Given the description of an element on the screen output the (x, y) to click on. 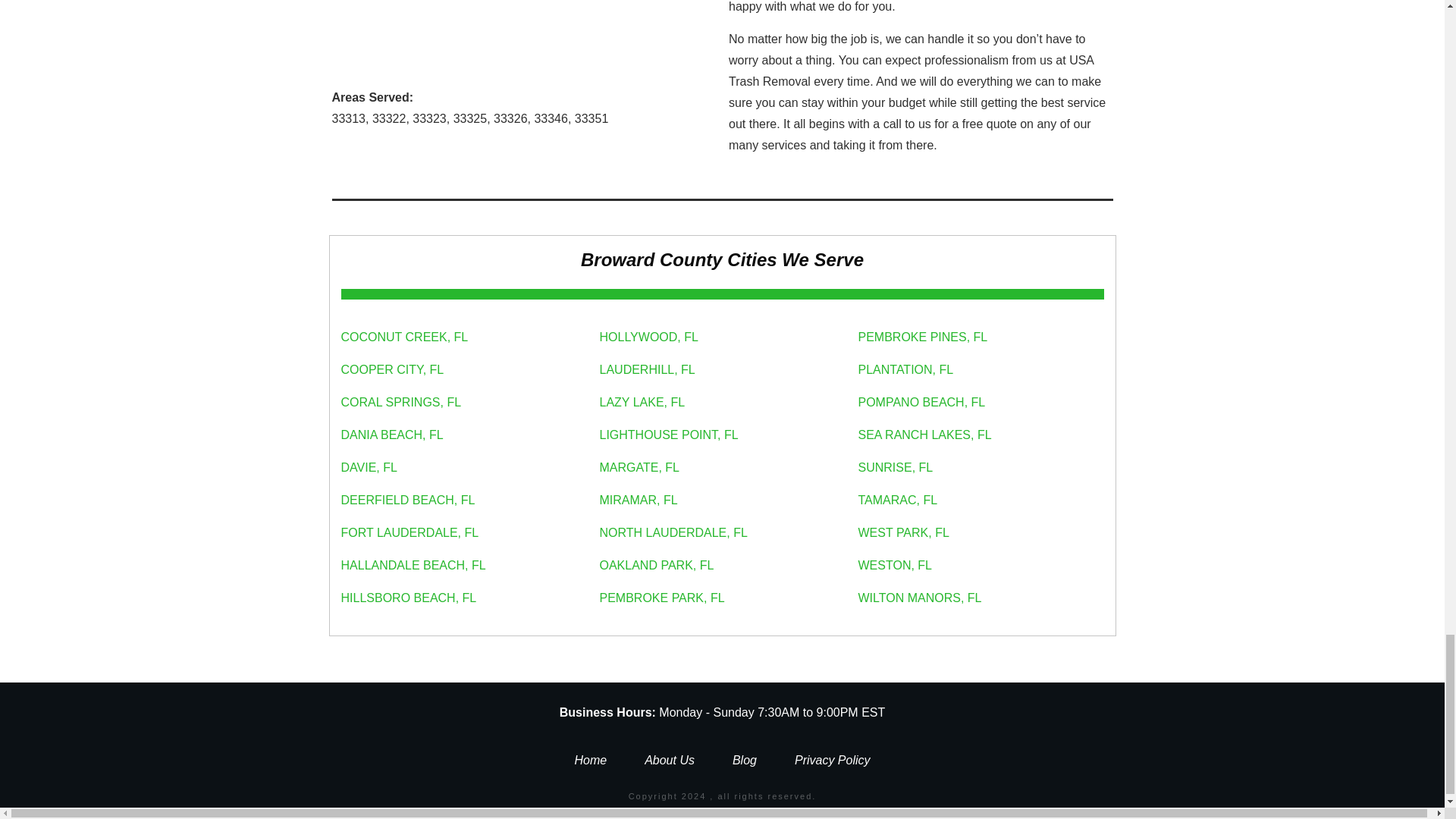
OAKLAND PARK, FL (655, 564)
LAUDERHILL, FL (646, 369)
Junk Removal Sunrise FL (523, 33)
PEMBROKE PARK, FL (660, 597)
POMPANO BEACH, FL (922, 401)
PLANTATION, FL (906, 369)
DAVIE, FL (368, 467)
PEMBROKE PINES, FL (923, 336)
FORT LAUDERDALE, FL (409, 532)
COOPER CITY, FL (392, 369)
